Given the description of an element on the screen output the (x, y) to click on. 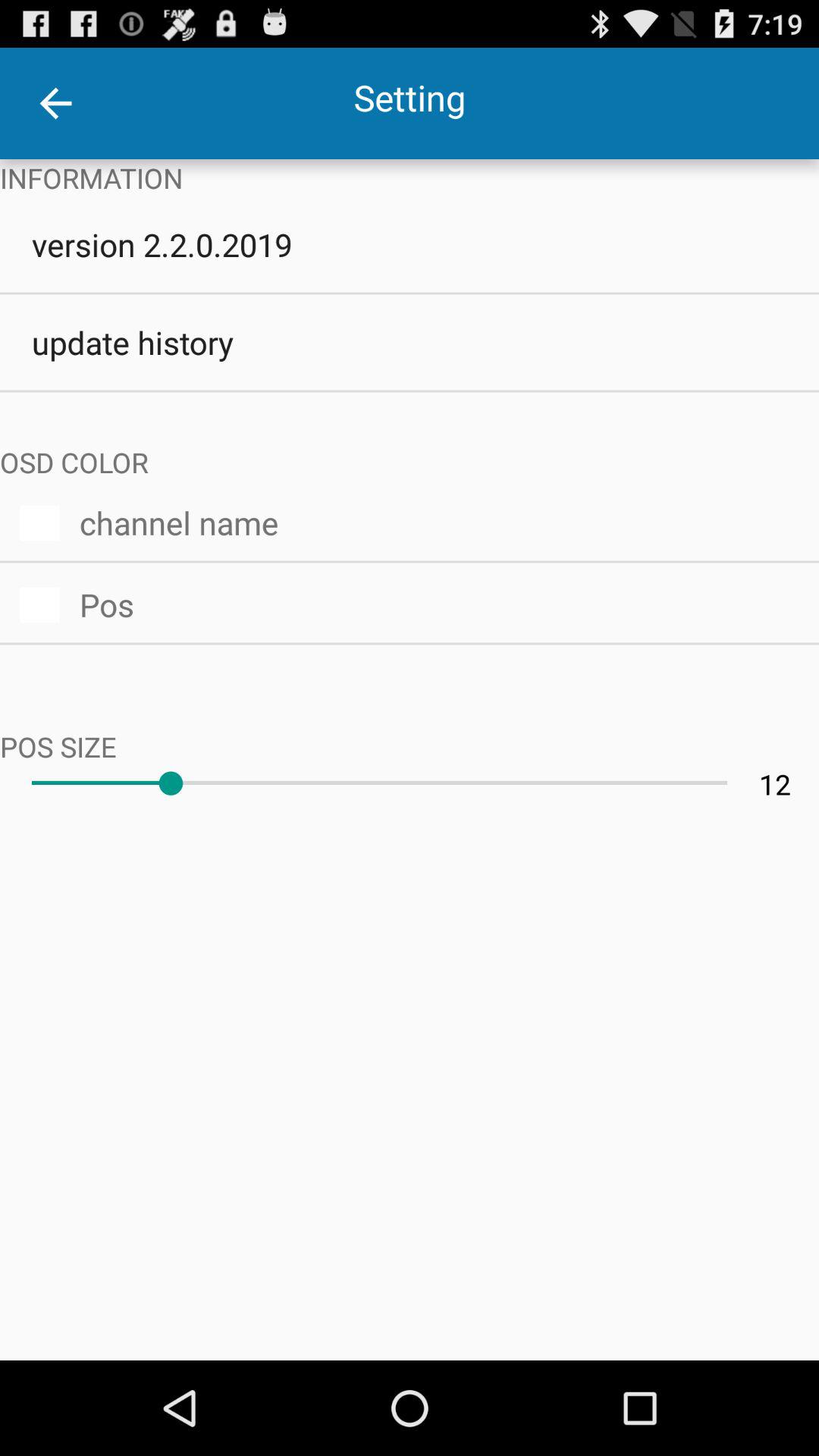
launch the item above the pos icon (439, 520)
